Given the description of an element on the screen output the (x, y) to click on. 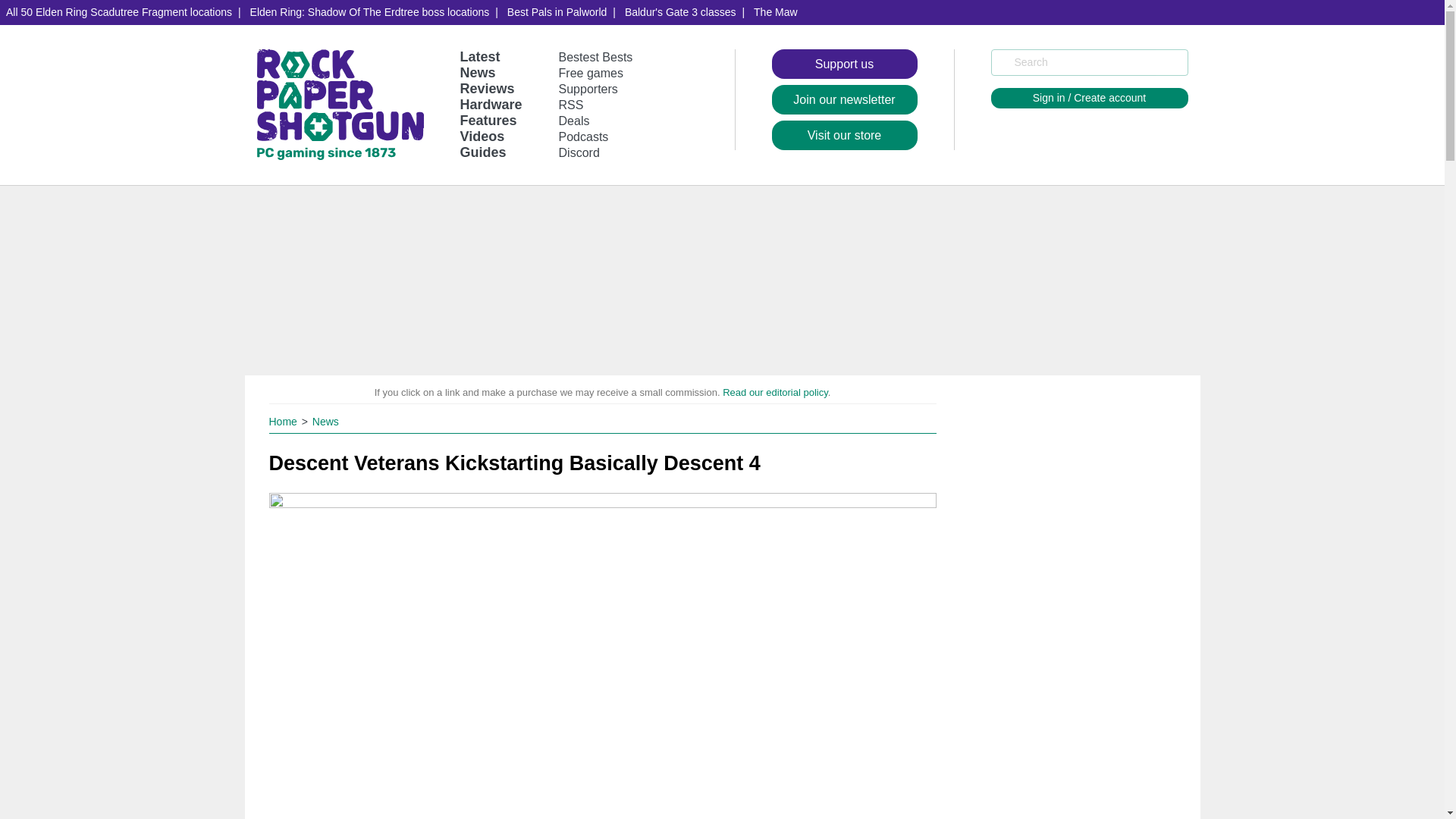
All 50 Elden Ring Scadutree Fragment locations (119, 12)
RSS (571, 104)
Podcasts (583, 136)
News (477, 72)
Podcasts (583, 136)
Reviews (486, 88)
Support us (844, 63)
Best Pals in Palworld (556, 12)
Supporters (588, 88)
Bestest Bests (596, 56)
